Given the description of an element on the screen output the (x, y) to click on. 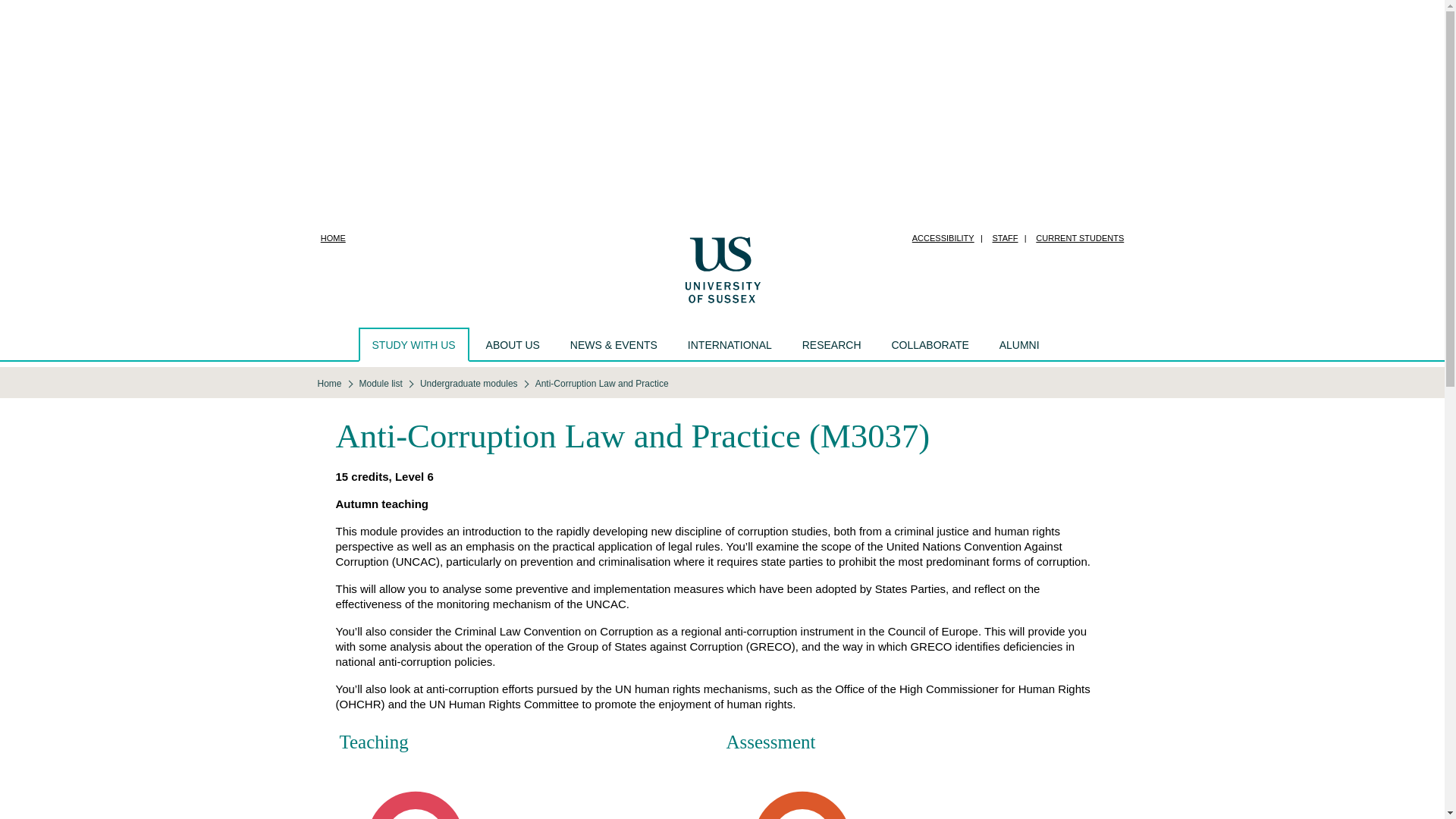
ACCESSIBILITY (942, 238)
STAFF (1005, 238)
HOME (333, 238)
University of Sussex (722, 268)
STUDY WITH US (413, 344)
CURRENT STUDENTS (1079, 238)
Search (1070, 343)
